Given the description of an element on the screen output the (x, y) to click on. 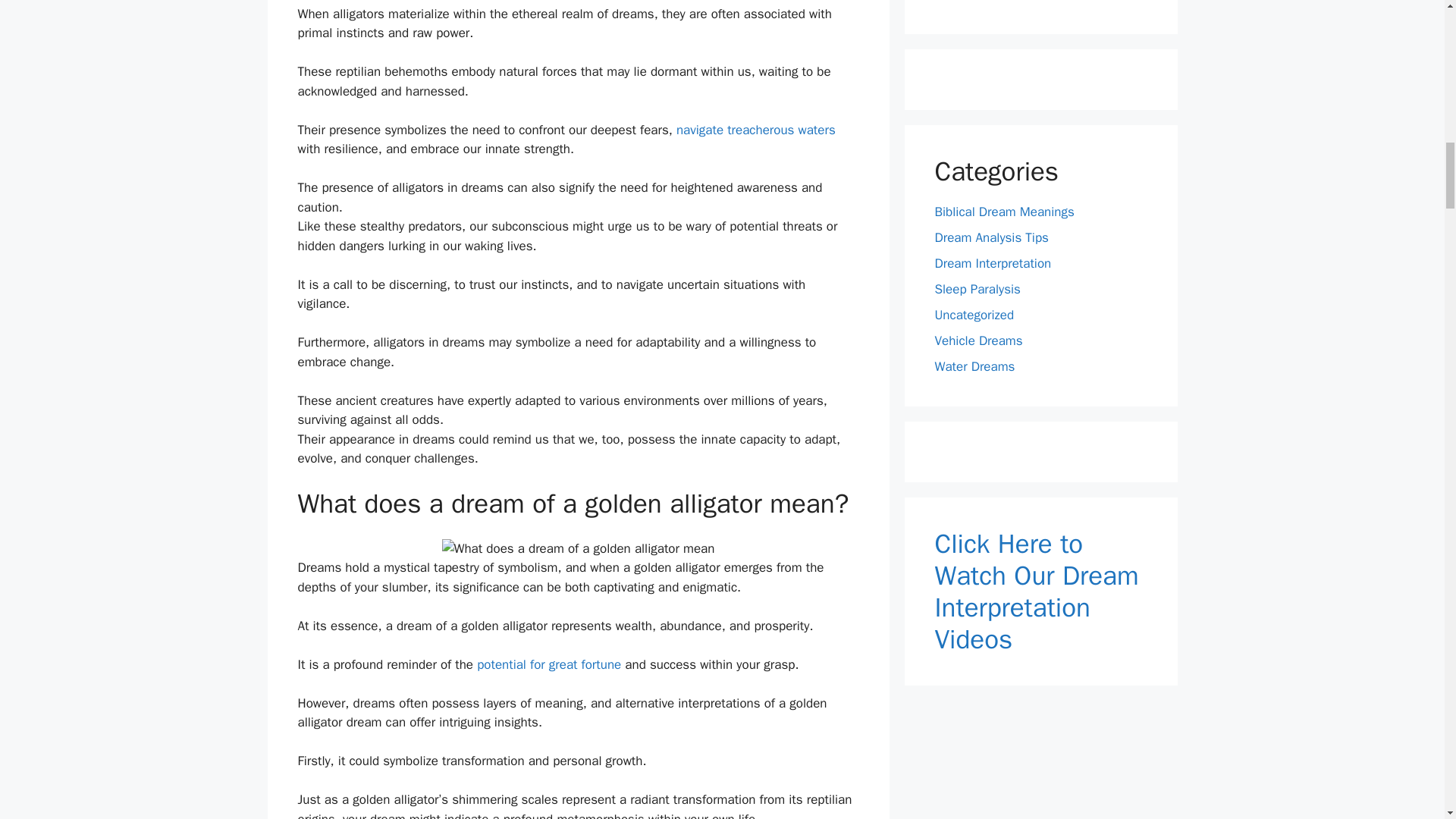
navigate treacherous waters (756, 130)
potential for great fortune (549, 664)
